Given the description of an element on the screen output the (x, y) to click on. 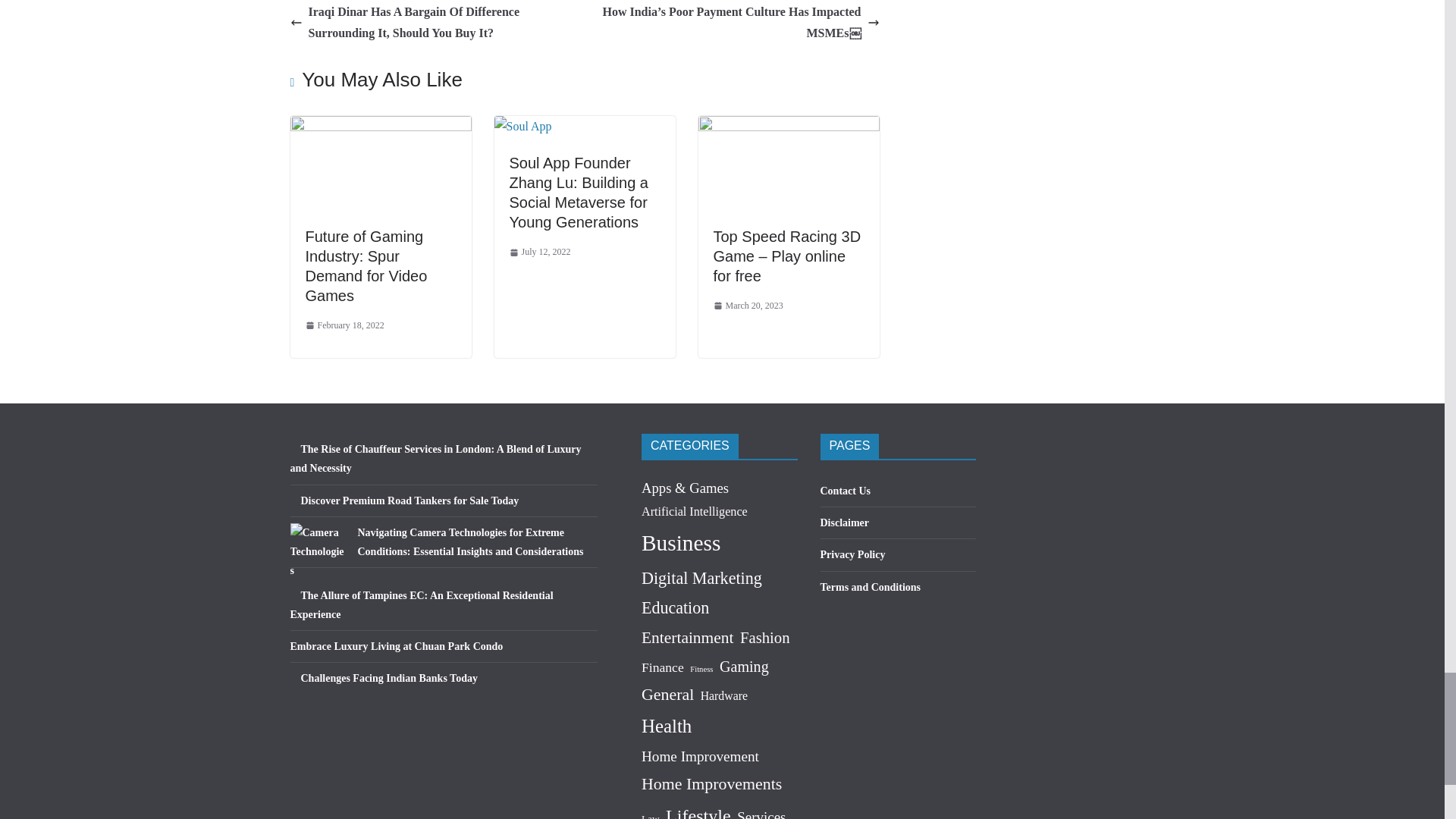
12:05 PM (539, 252)
5:49 PM (344, 325)
February 18, 2022 (344, 325)
July 12, 2022 (539, 252)
Future of Gaming Industry: Spur Demand for Video Games  (365, 265)
